Given the description of an element on the screen output the (x, y) to click on. 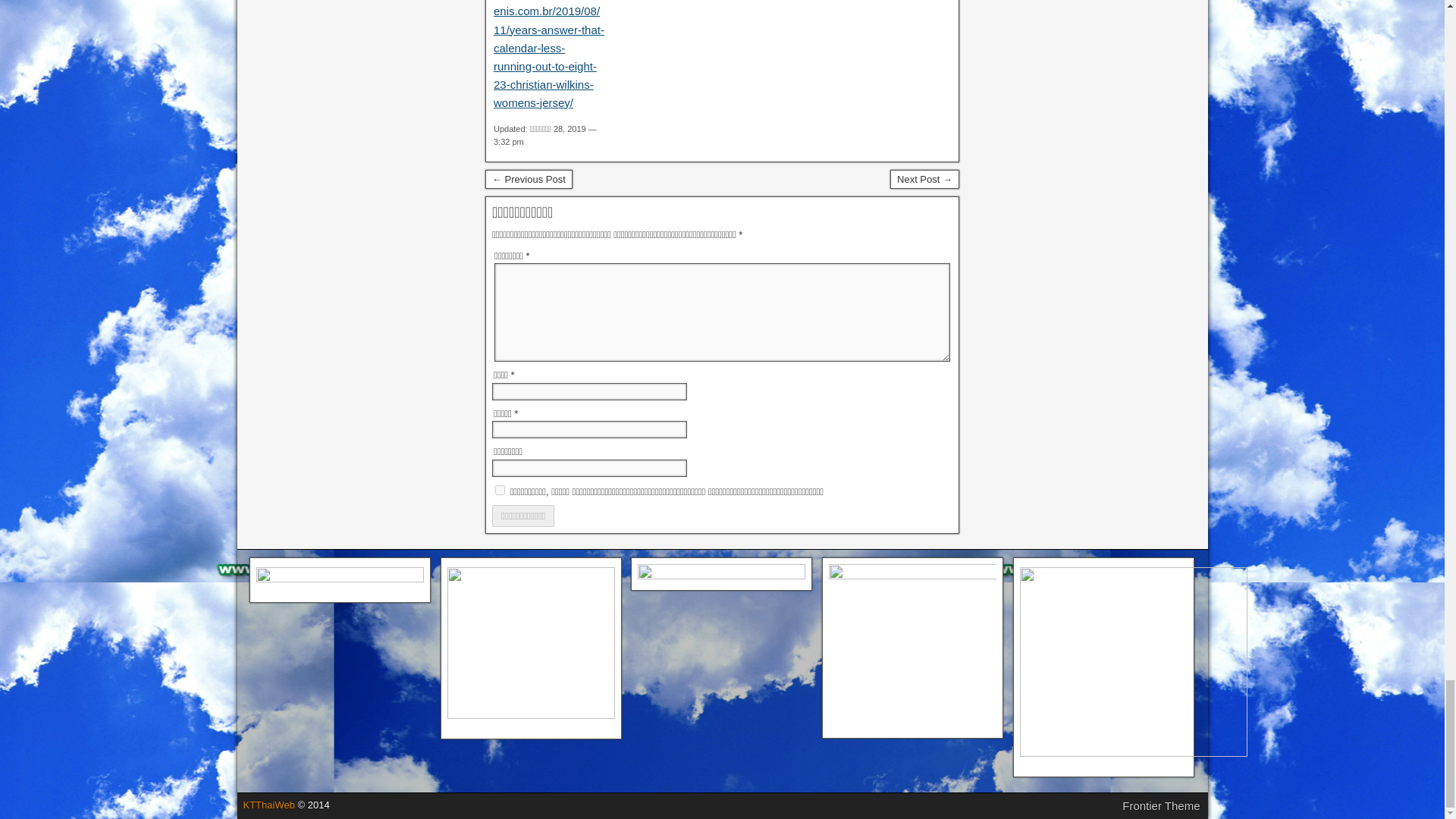
8 roof was think rain Womens Anthony DeAngelo Jersey (924, 179)
yes (500, 490)
